Given the description of an element on the screen output the (x, y) to click on. 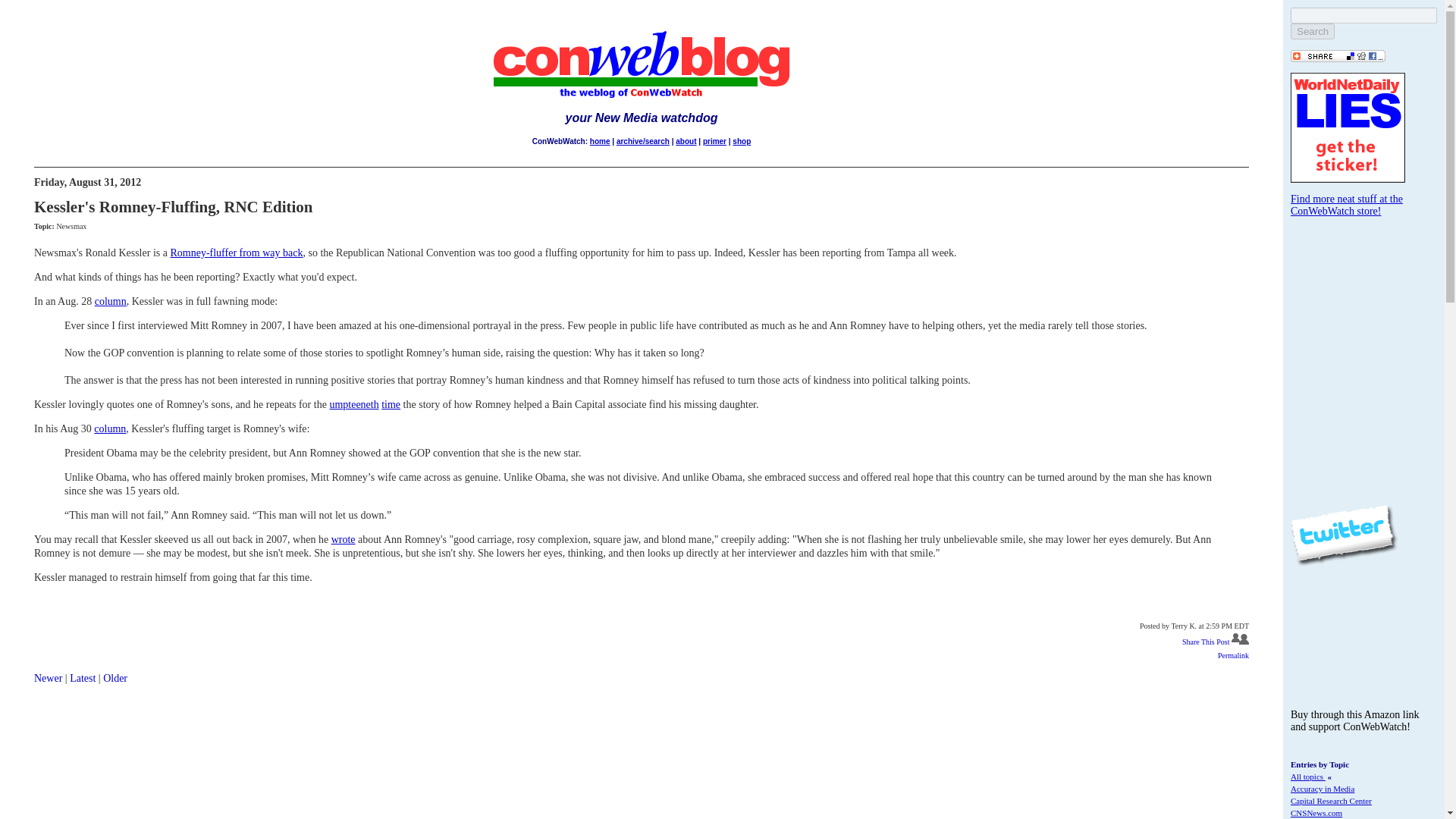
Search (1312, 31)
Newer (47, 677)
primer (714, 141)
time (390, 404)
Older (115, 677)
All topics (1307, 776)
home (599, 141)
Search (1312, 31)
shop (741, 141)
Share This Post (1206, 642)
